Given the description of an element on the screen output the (x, y) to click on. 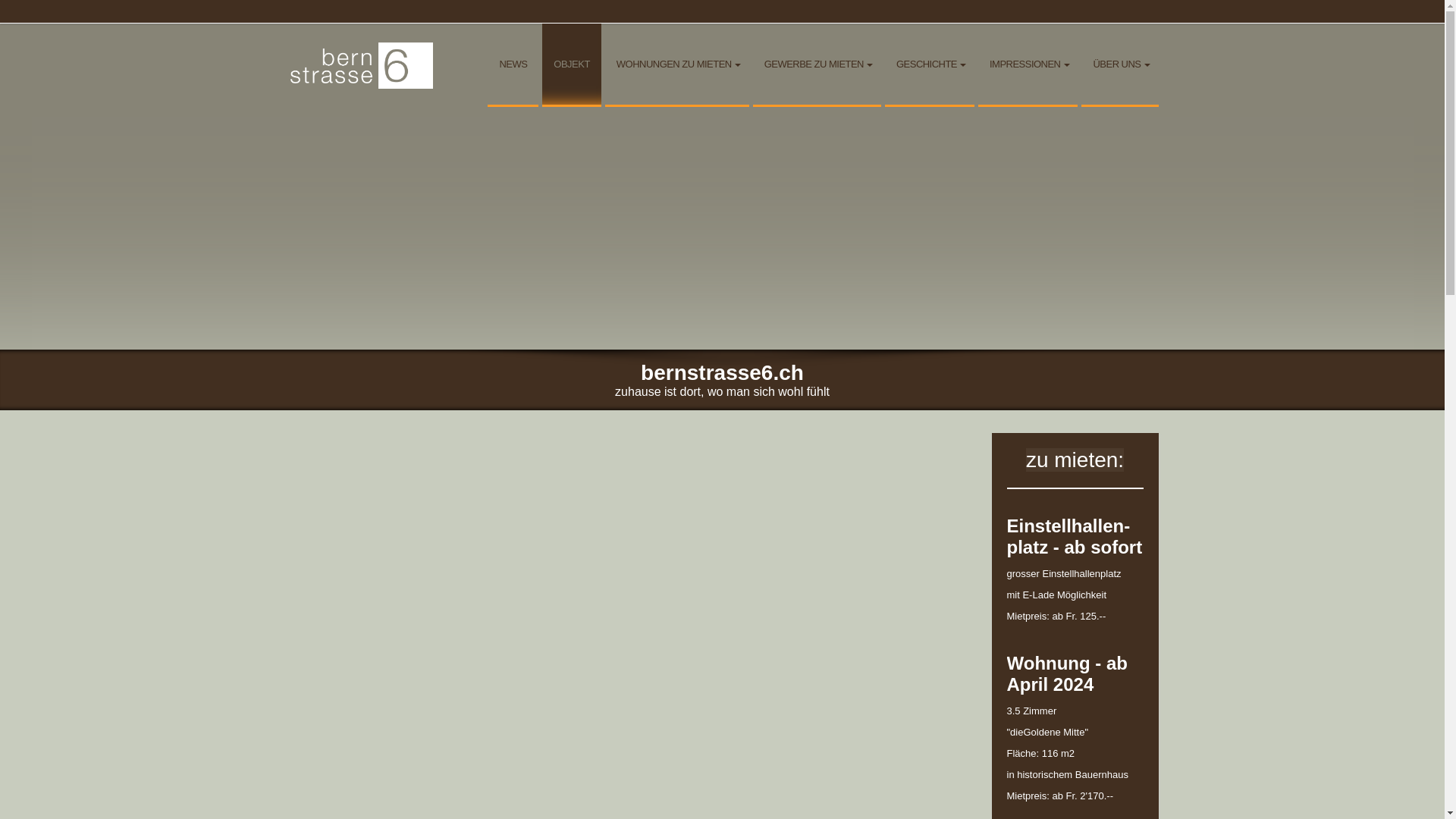
  Element type: text (362, 28)
NEWS Element type: text (512, 64)
OBJEKT Element type: text (571, 64)
GESCHICHTE Element type: text (929, 64)
WOHNUNGEN ZU MIETEN Element type: text (677, 64)
IMPRESSIONEN Element type: text (1027, 64)
GEWERBE ZU MIETEN Element type: text (817, 64)
